Given the description of an element on the screen output the (x, y) to click on. 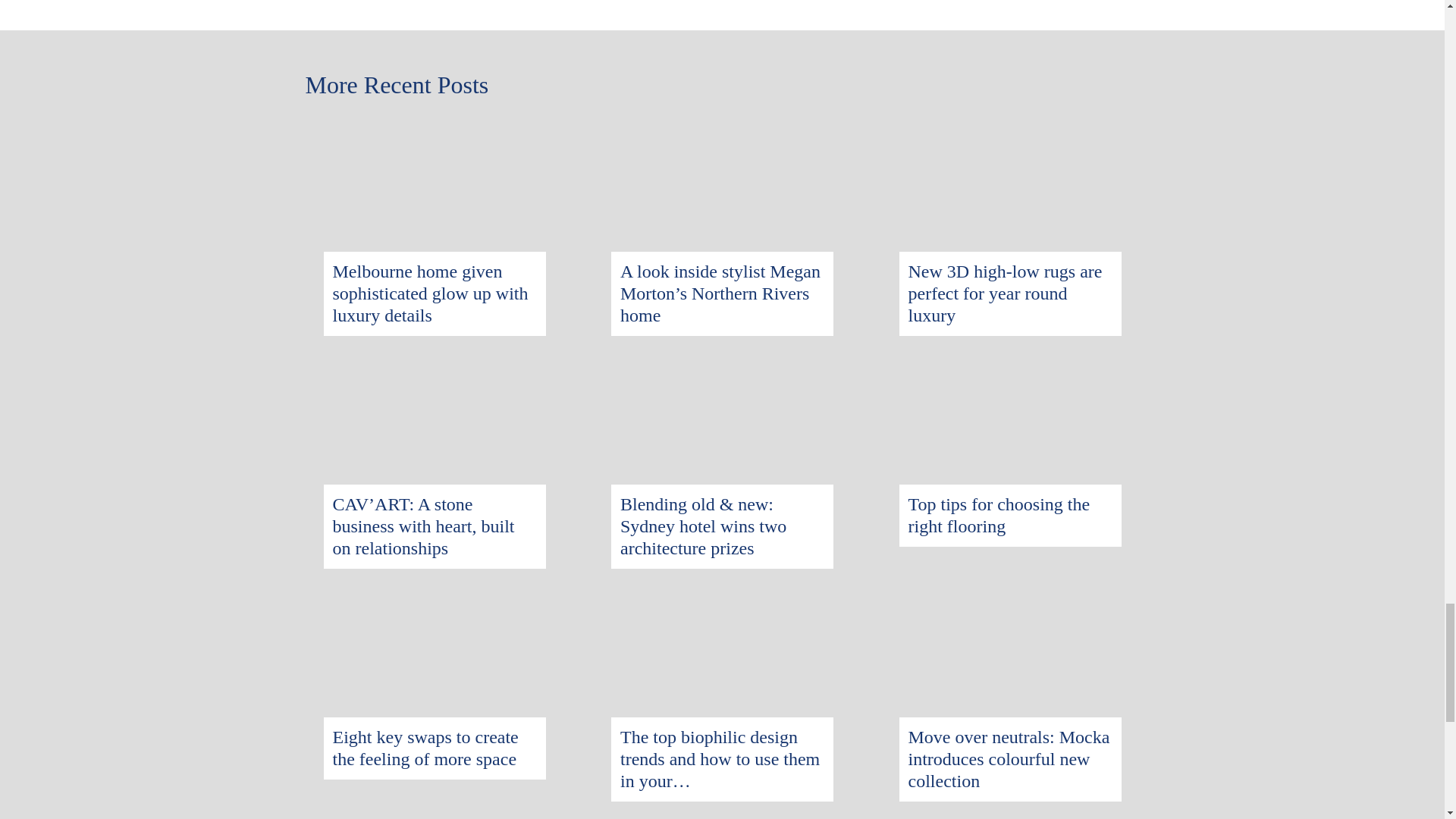
New 3D high-low rugs are perfect for year round luxury (1005, 293)
New 3D high-low rugs are perfect for year round luxury (1010, 129)
